Given the description of an element on the screen output the (x, y) to click on. 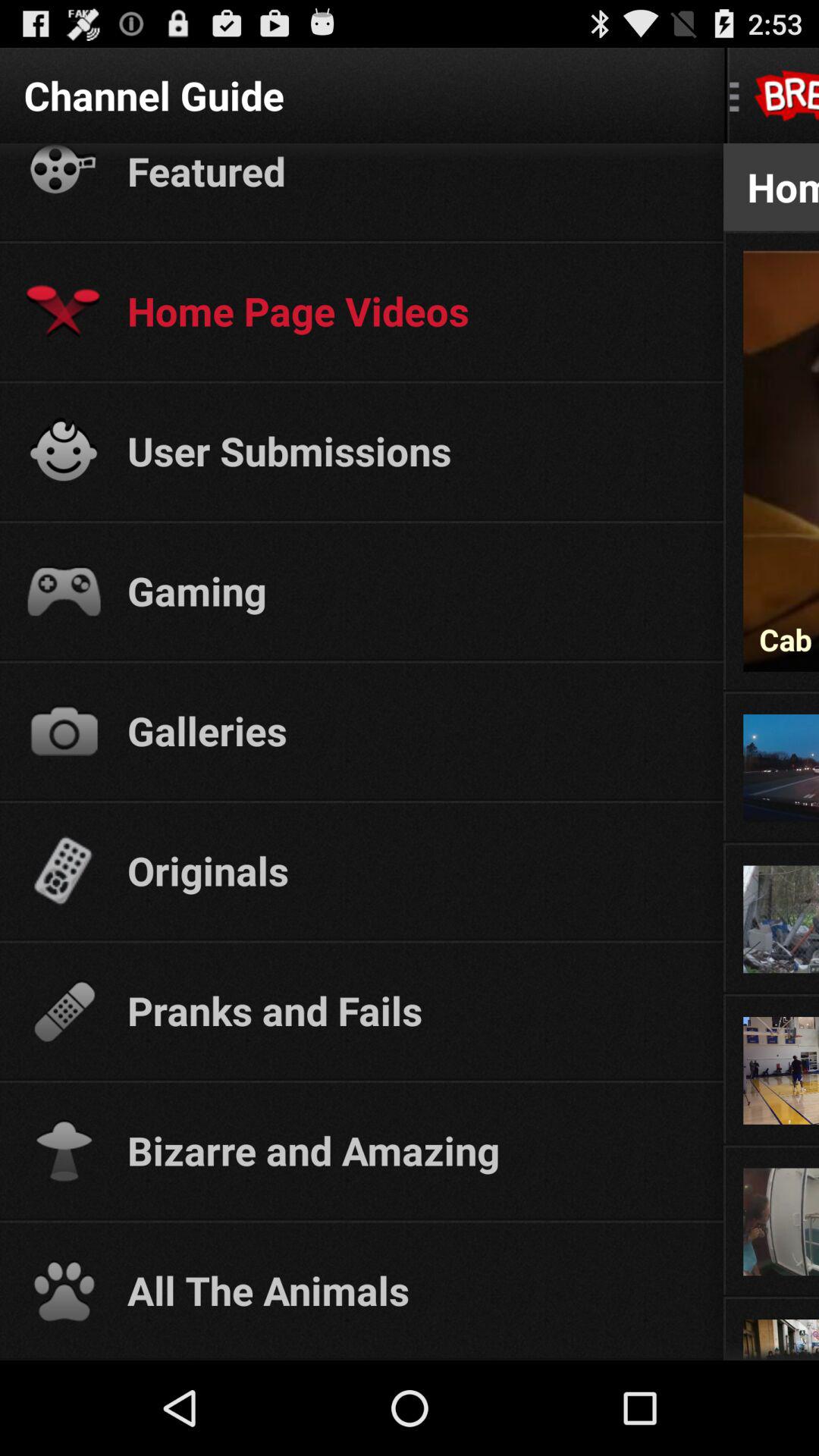
tap the featured item (411, 170)
